Given the description of an element on the screen output the (x, y) to click on. 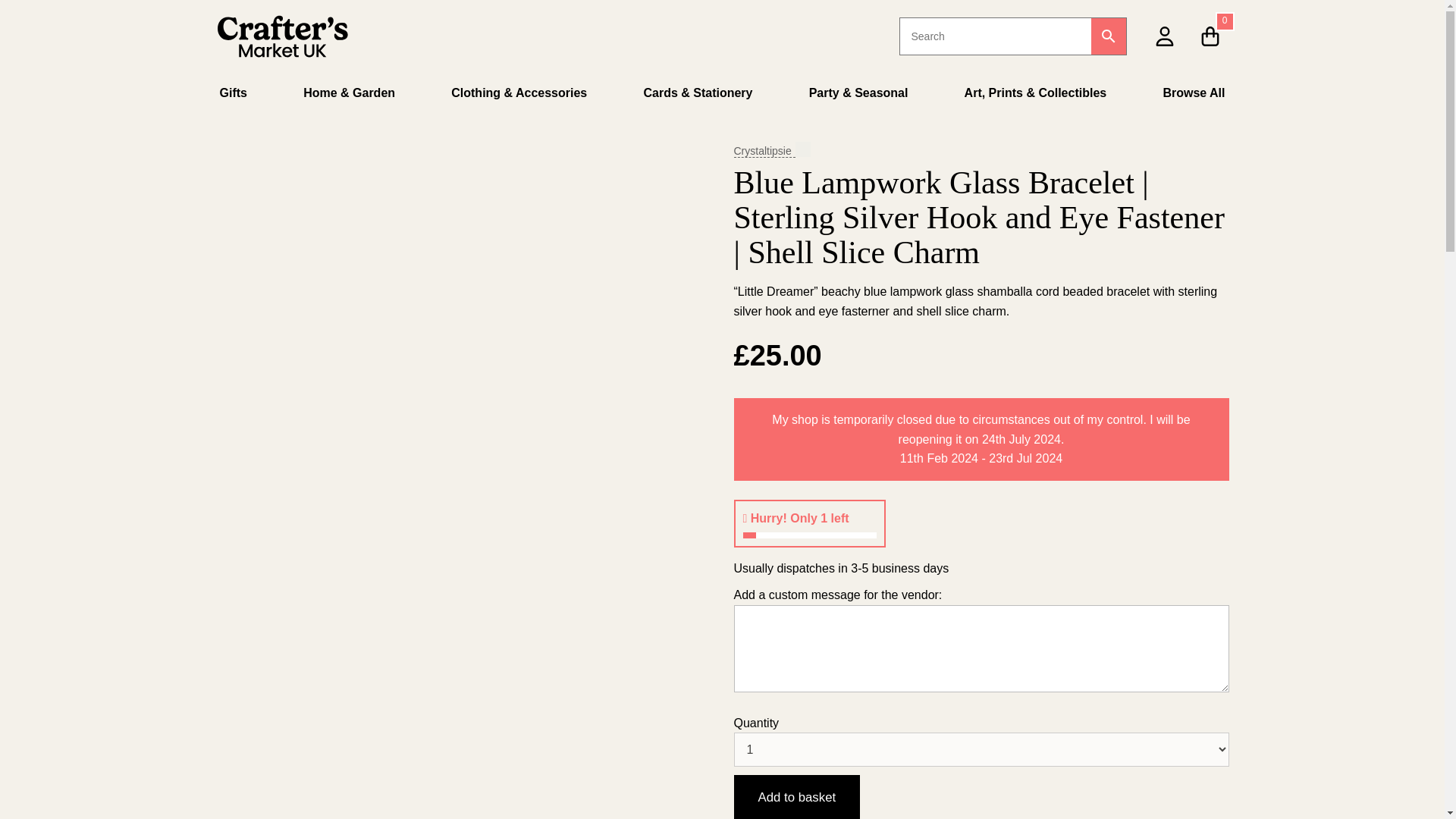
0 (1209, 35)
Log in (1029, 105)
0 items (1209, 35)
Register (1038, 203)
